Given the description of an element on the screen output the (x, y) to click on. 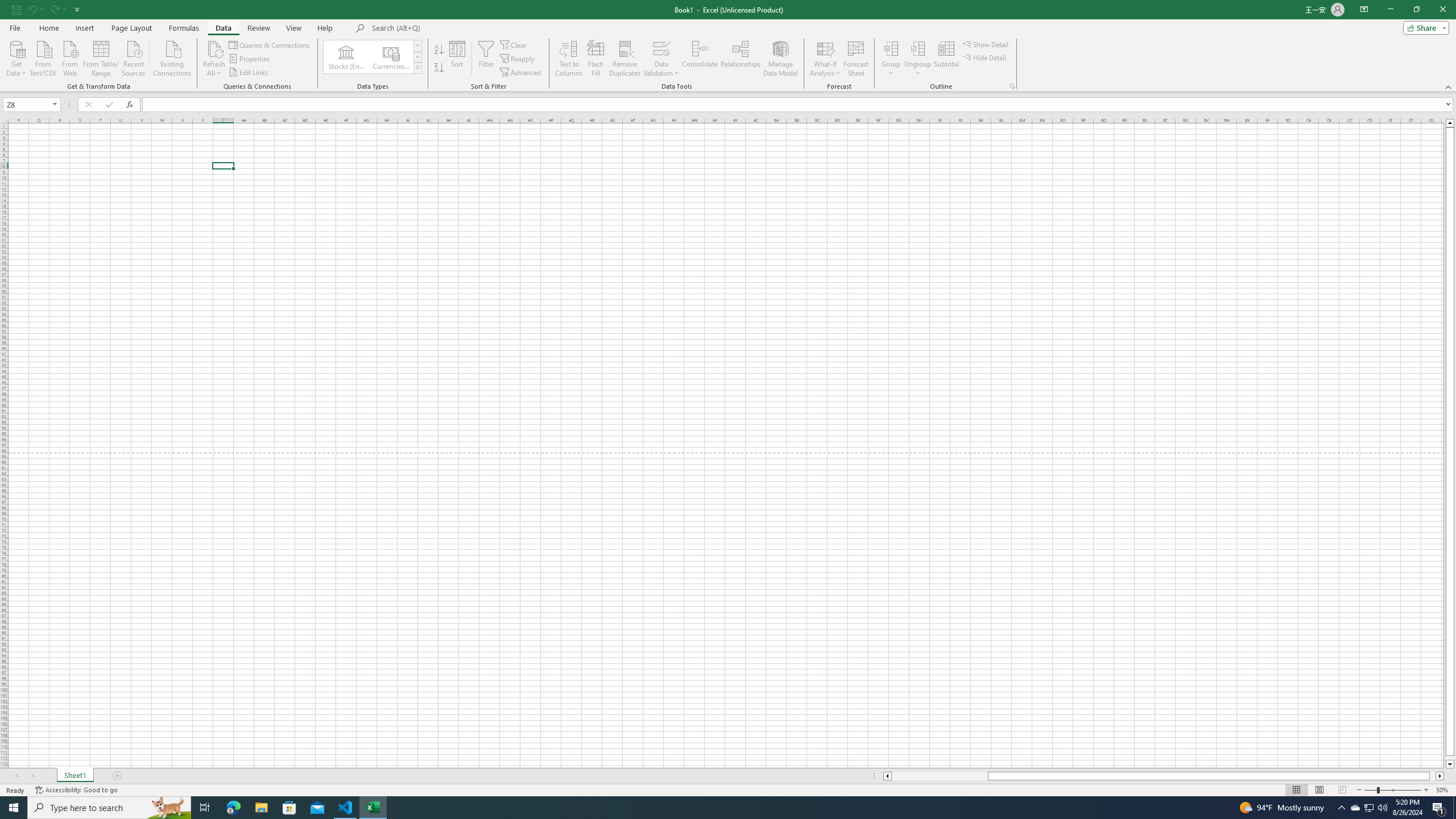
Page right (1432, 775)
Clear (513, 44)
Class: NetUIImage (418, 68)
Refresh All (214, 58)
Show Detail (985, 44)
Page down (1449, 757)
Group... (890, 58)
Add Sheet (117, 775)
Ribbon Display Options (1364, 9)
Formula Bar (798, 104)
Save (16, 9)
Group and Outline Settings (1011, 85)
Line down (1449, 764)
Forecast Sheet (856, 58)
Help (325, 28)
